Given the description of an element on the screen output the (x, y) to click on. 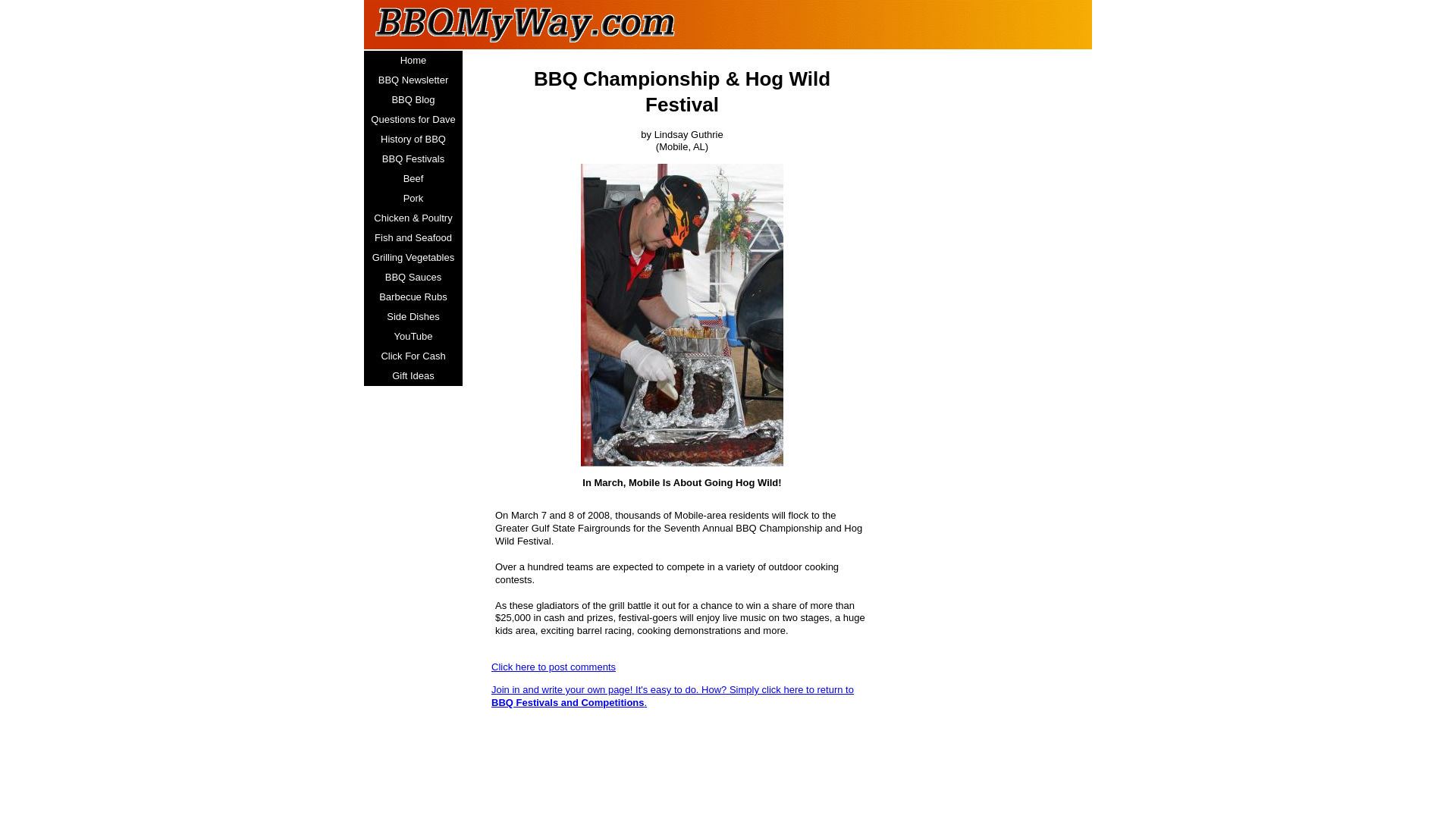
BBQ Festivals (413, 158)
Click For Cash (413, 356)
Grilling Vegetables (413, 257)
Barbecue Rubs (413, 297)
Home (413, 60)
Click here to post comments (553, 666)
BBQ Sauces (413, 277)
Side Dishes (413, 316)
YouTube (413, 336)
